Given the description of an element on the screen output the (x, y) to click on. 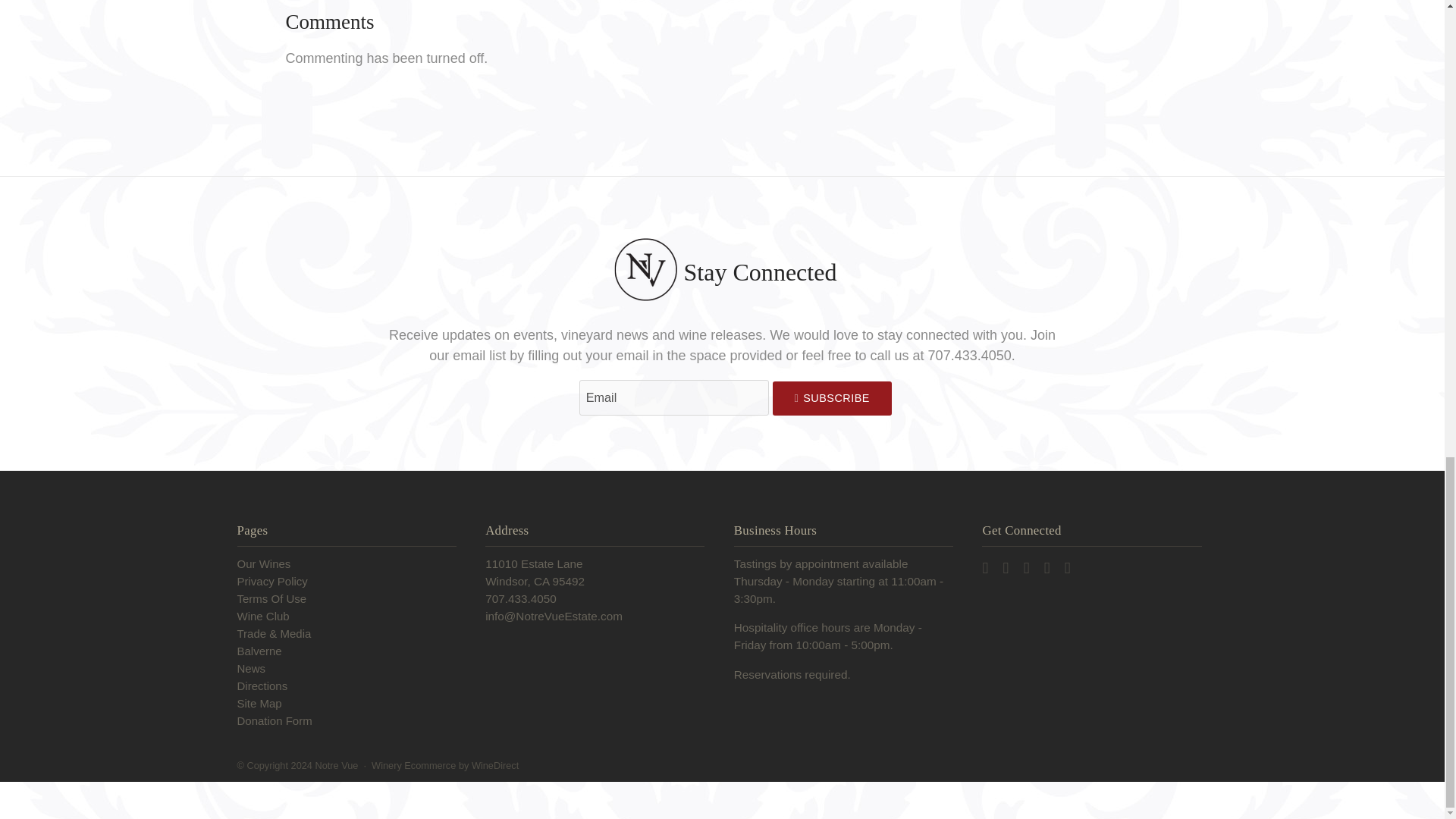
Email (673, 397)
